Given the description of an element on the screen output the (x, y) to click on. 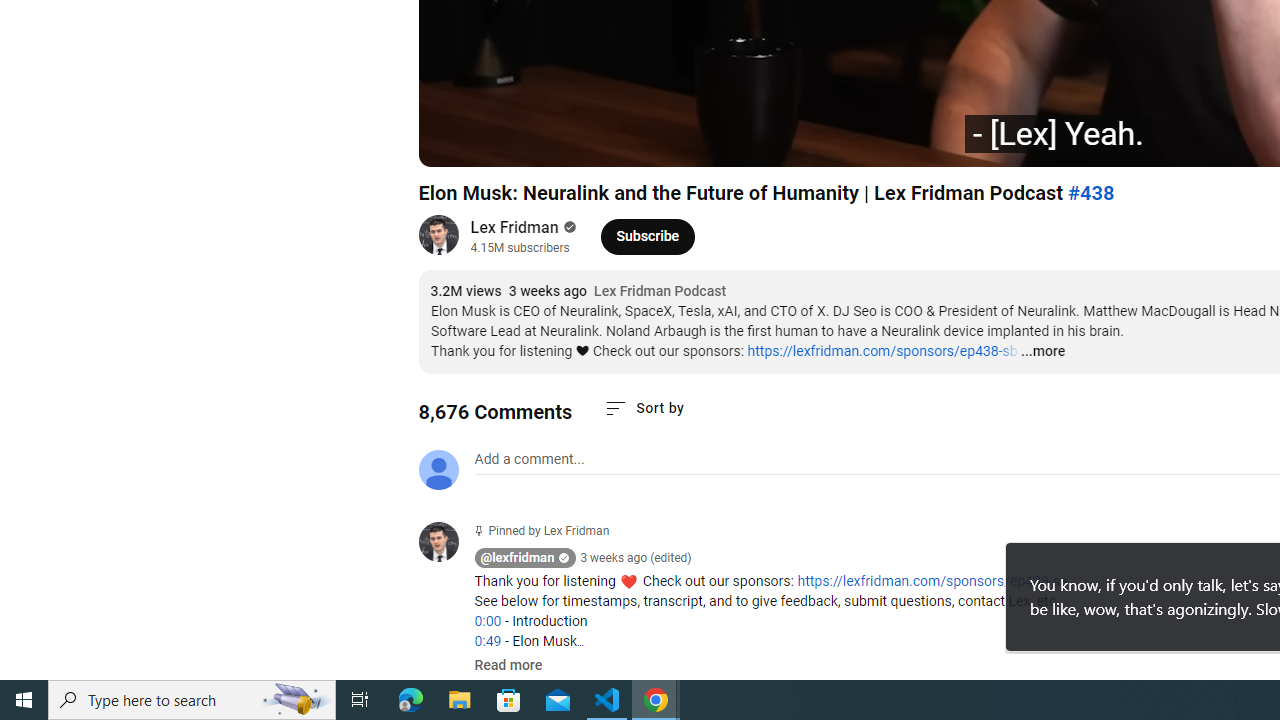
Telepathy (706, 142)
Verified (567, 227)
@lexfridman (517, 557)
Read more (507, 665)
Play (k) (453, 142)
Lex Fridman (514, 227)
https://lexfridman.com/sponsors/ep438-sb (882, 351)
AutomationID: simplebox-placeholder (528, 459)
0:00 (487, 621)
Sort comments (644, 408)
@lexfridman (446, 543)
Lex Fridman Podcast (660, 291)
Subscribe to Lex Fridman. (648, 236)
https://lexfridman.com/sponsors/ep438-sa (932, 581)
